Given the description of an element on the screen output the (x, y) to click on. 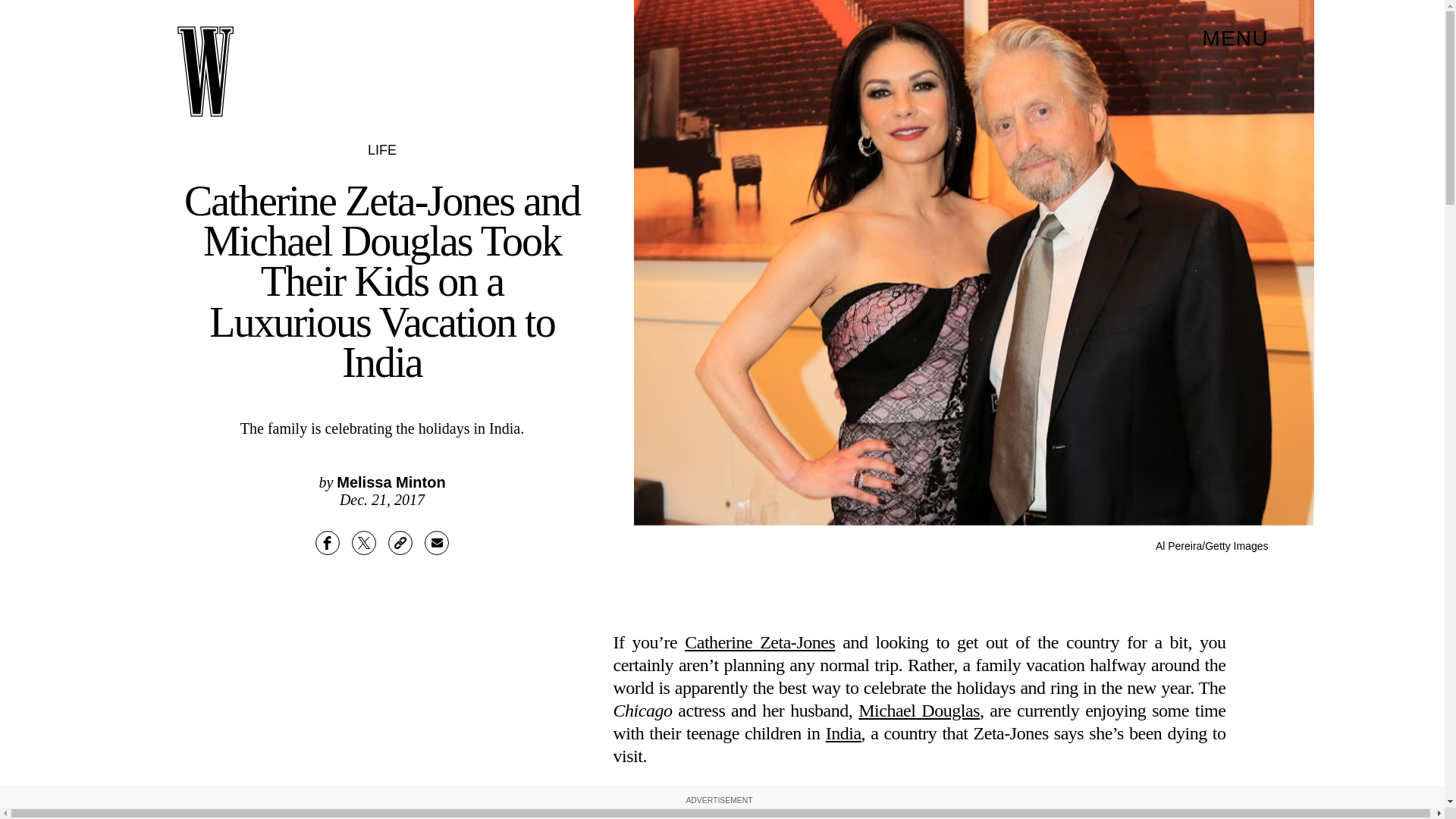
India (843, 732)
W Magazine (204, 71)
Post (363, 542)
Send via email (436, 542)
Share (327, 542)
Catherine Zeta-Jones (759, 641)
Melissa Minton (390, 482)
Michael Douglas (919, 710)
Copy link (400, 542)
